Given the description of an element on the screen output the (x, y) to click on. 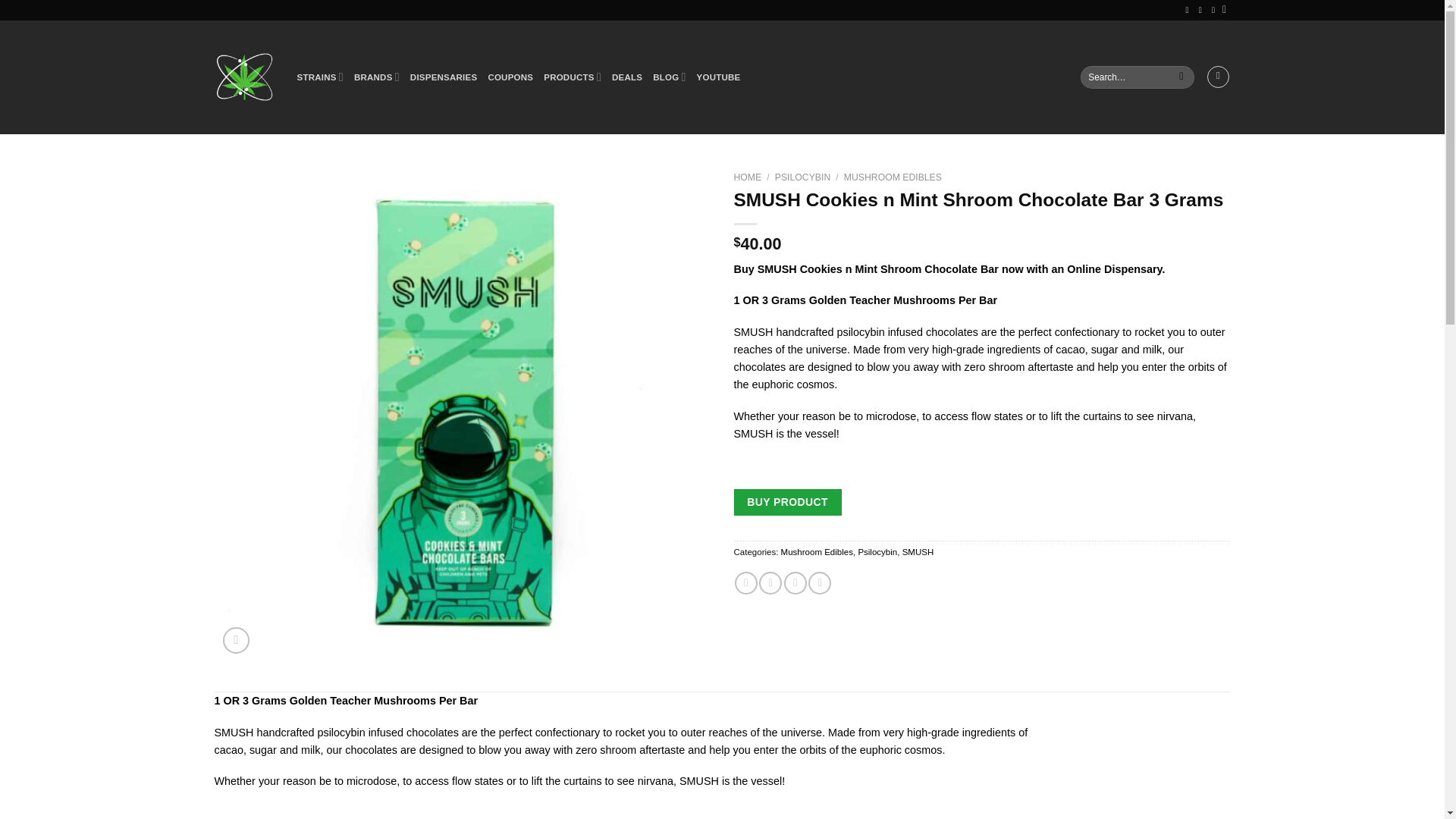
Share on Facebook (746, 582)
Follow on Discord (1215, 9)
Follow on YouTube (1202, 9)
Zoom (235, 640)
PRODUCTS (572, 77)
Follow on Instagram (1189, 9)
DISPENSARIES (443, 77)
Email to a Friend (795, 582)
Share on Twitter (769, 582)
